Given the description of an element on the screen output the (x, y) to click on. 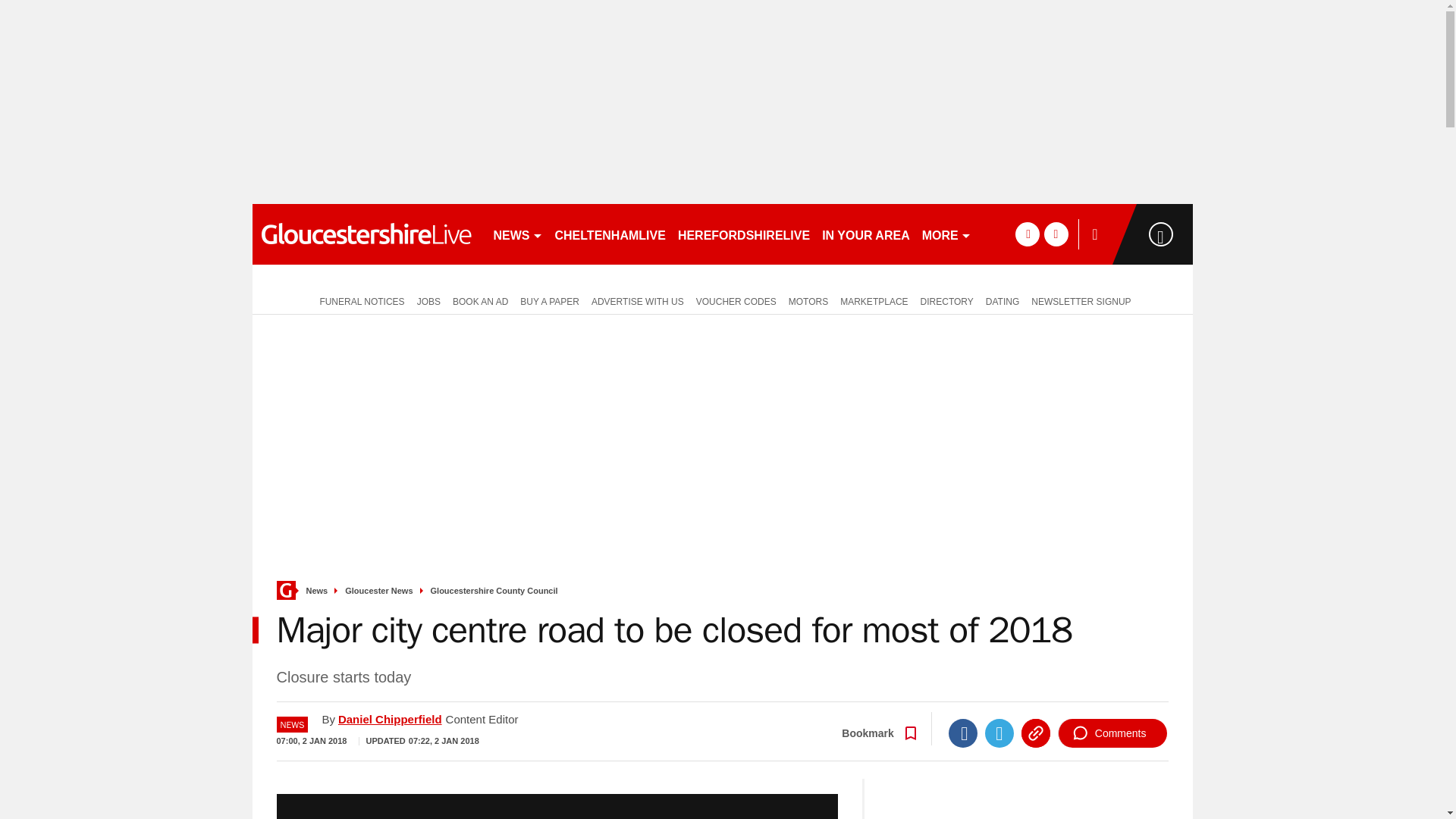
Twitter (999, 733)
MORE (945, 233)
NEWS (517, 233)
CHELTENHAMLIVE (609, 233)
facebook (1026, 233)
gloucestershirelive (365, 233)
twitter (1055, 233)
HEREFORDSHIRELIVE (743, 233)
IN YOUR AREA (865, 233)
Comments (1112, 733)
